Given the description of an element on the screen output the (x, y) to click on. 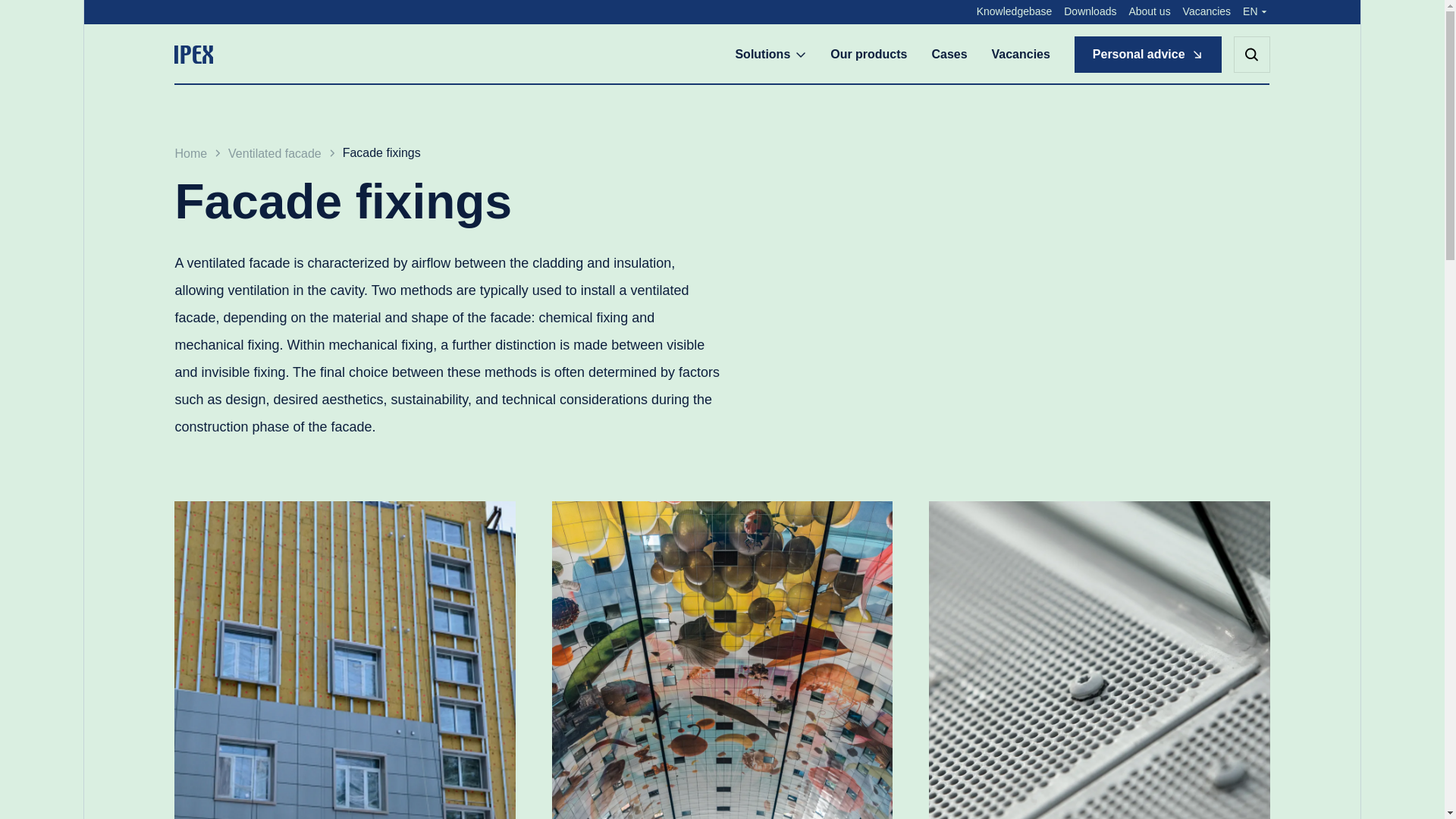
Vacancies (1206, 11)
Our products (868, 55)
Personal advice (1147, 54)
About us (1149, 11)
Cases (948, 55)
Downloads (1090, 11)
Vacancies (1020, 55)
Home (190, 153)
Solutions (770, 55)
Knowledgebase (1014, 11)
